Given the description of an element on the screen output the (x, y) to click on. 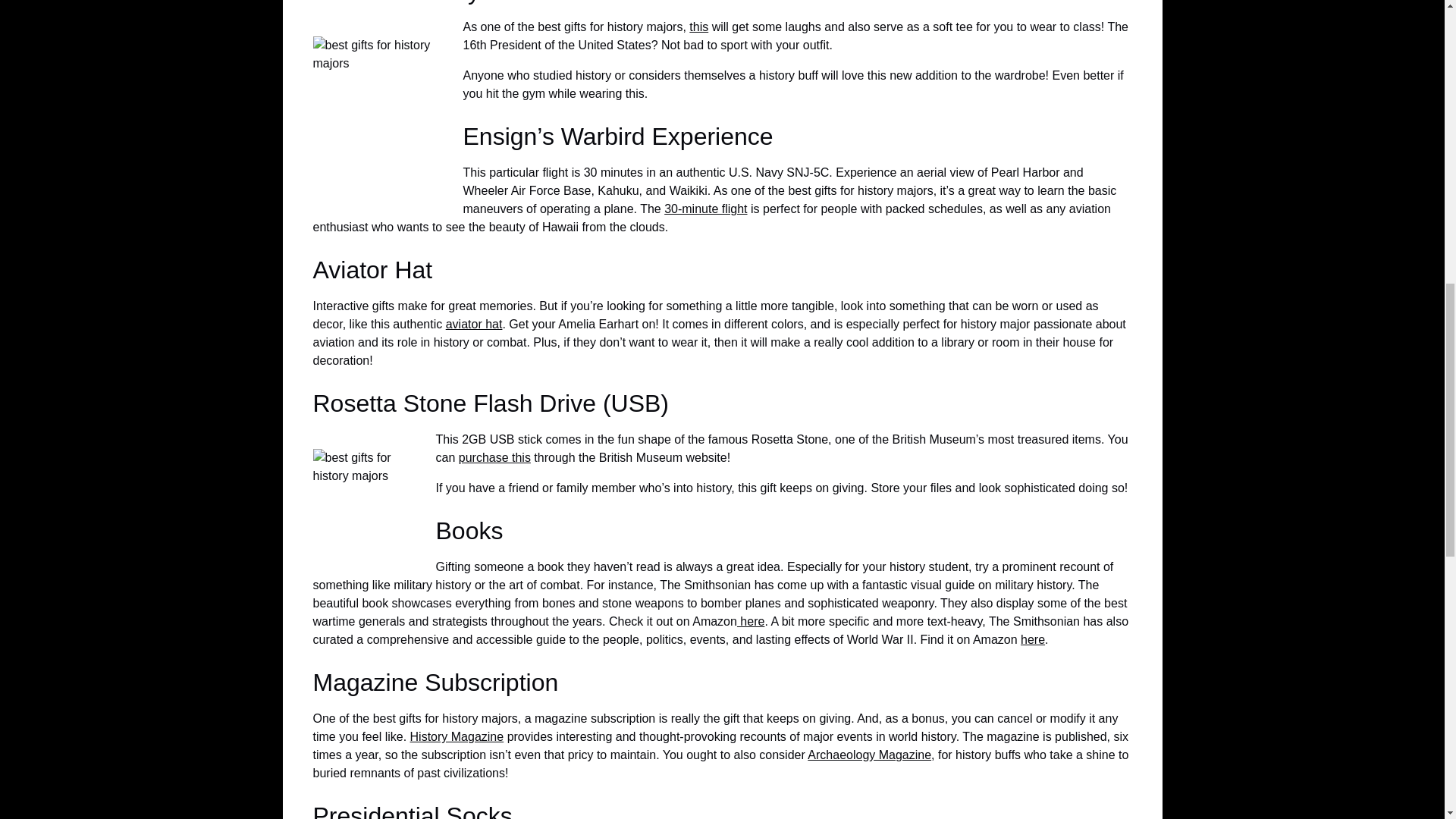
aviator hat (473, 323)
here (750, 621)
History Magazine (456, 736)
30-minute flight (704, 208)
Archaeology Magazine (869, 754)
this (697, 26)
FareHarbor (1342, 64)
here (1032, 639)
purchase this (494, 457)
